Given the description of an element on the screen output the (x, y) to click on. 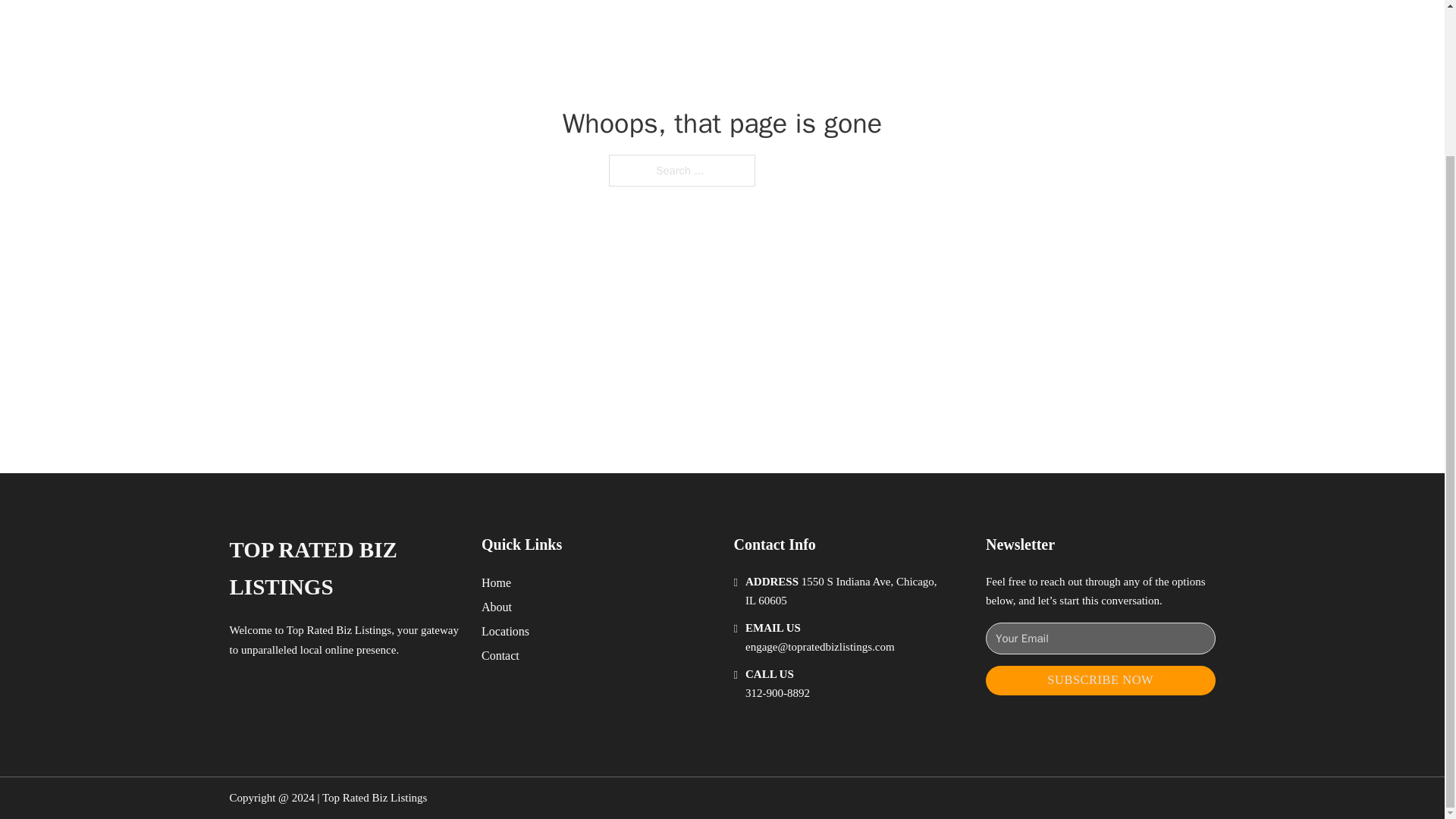
Home (496, 582)
About (496, 607)
Contact (500, 655)
312-900-8892 (777, 693)
Locations (505, 630)
SUBSCRIBE NOW (1100, 680)
TOP RATED BIZ LISTINGS (343, 568)
